Given the description of an element on the screen output the (x, y) to click on. 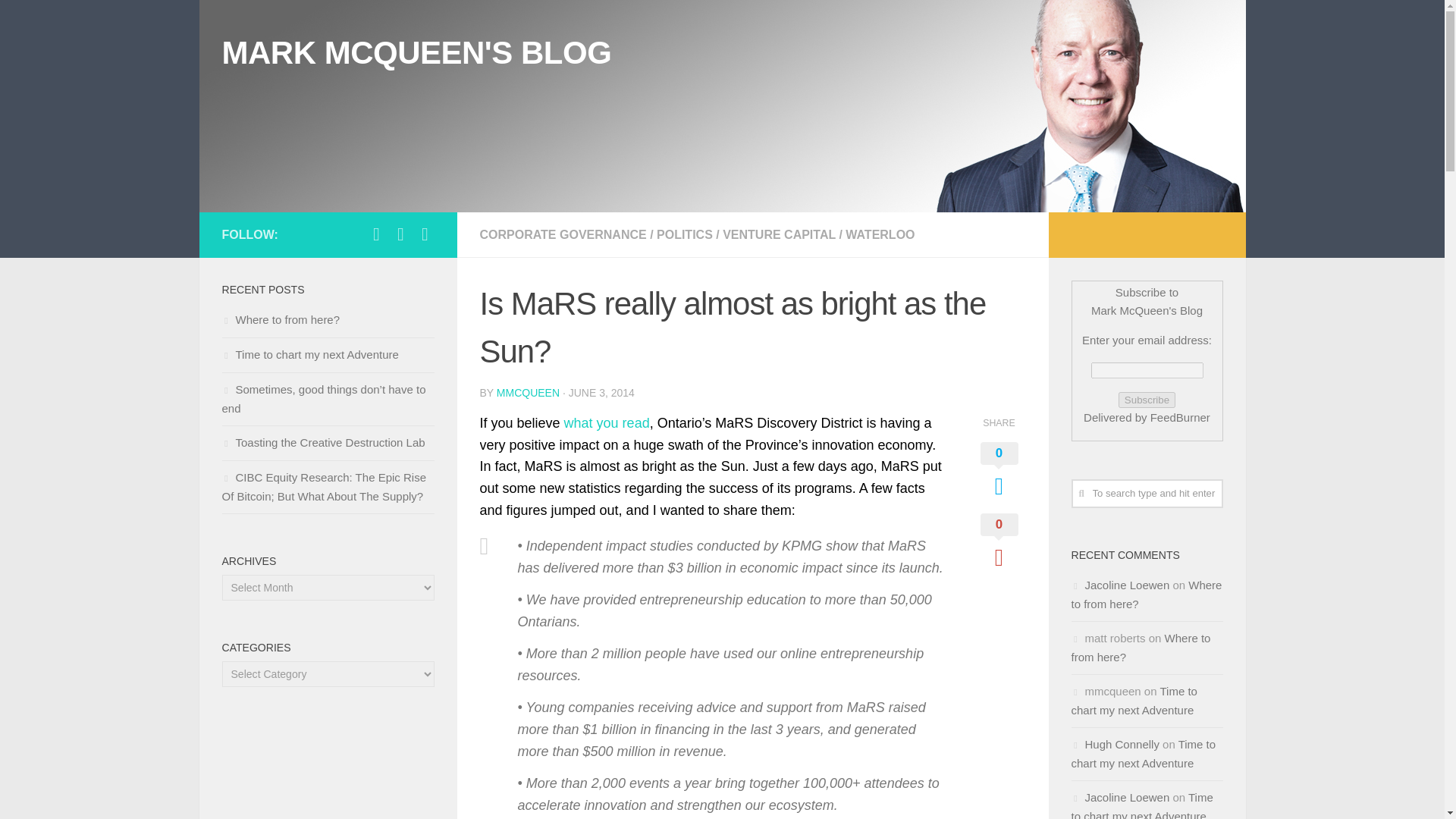
Subscribe (1146, 399)
Posts by mmcqueen (527, 392)
what you read (606, 422)
MARK MCQUEEN'S BLOG (416, 53)
Subscribe to MARK MCQUEEN'S BLOG (423, 234)
Add Mark McQueen on Linkedin (400, 234)
To search type and hit enter (1146, 493)
WATERLOO (879, 234)
Follow Mark McQueen on Twitter (375, 234)
To search type and hit enter (1146, 493)
